Given the description of an element on the screen output the (x, y) to click on. 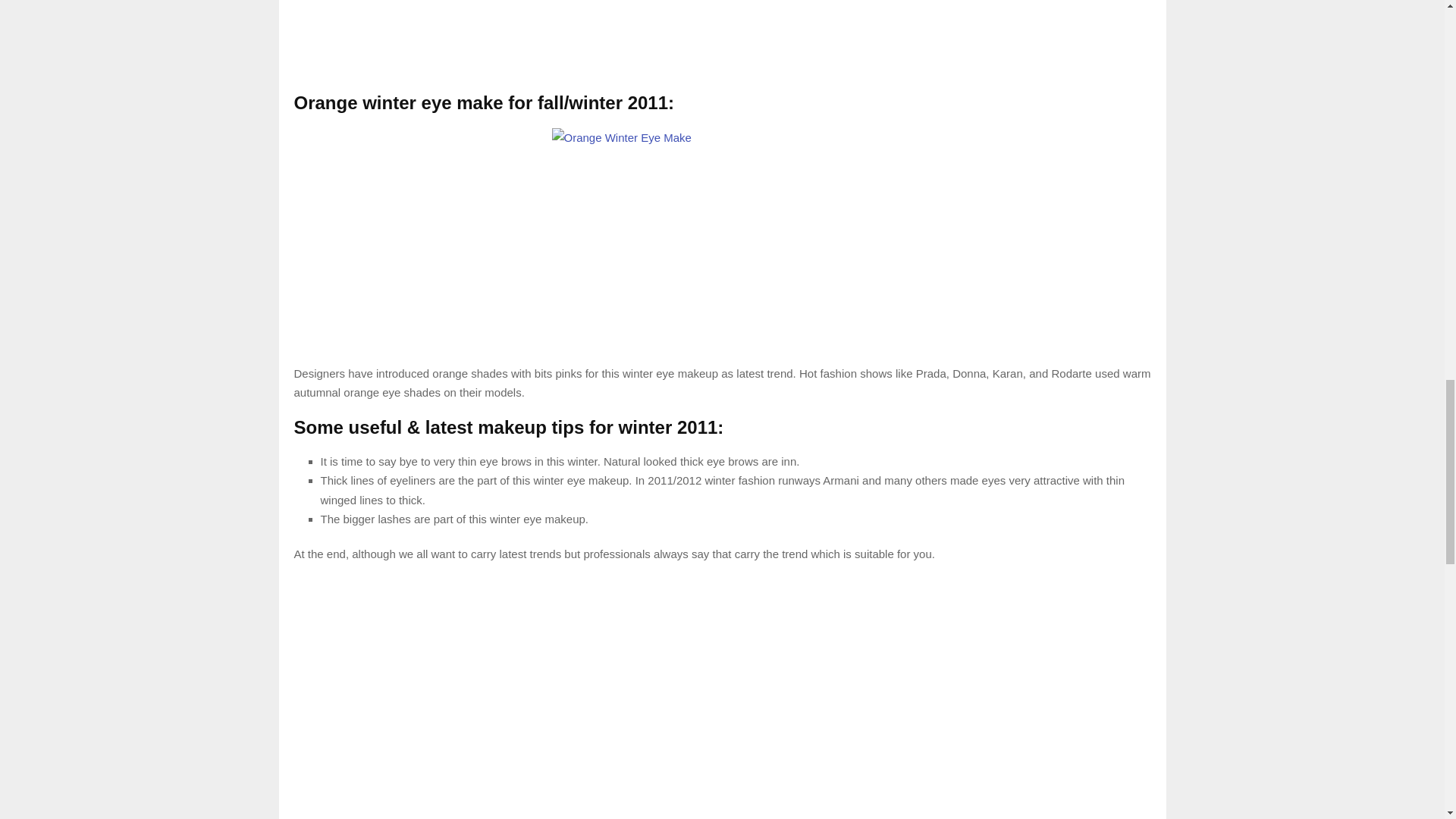
Orange Winter Eye Make (722, 245)
